Given the description of an element on the screen output the (x, y) to click on. 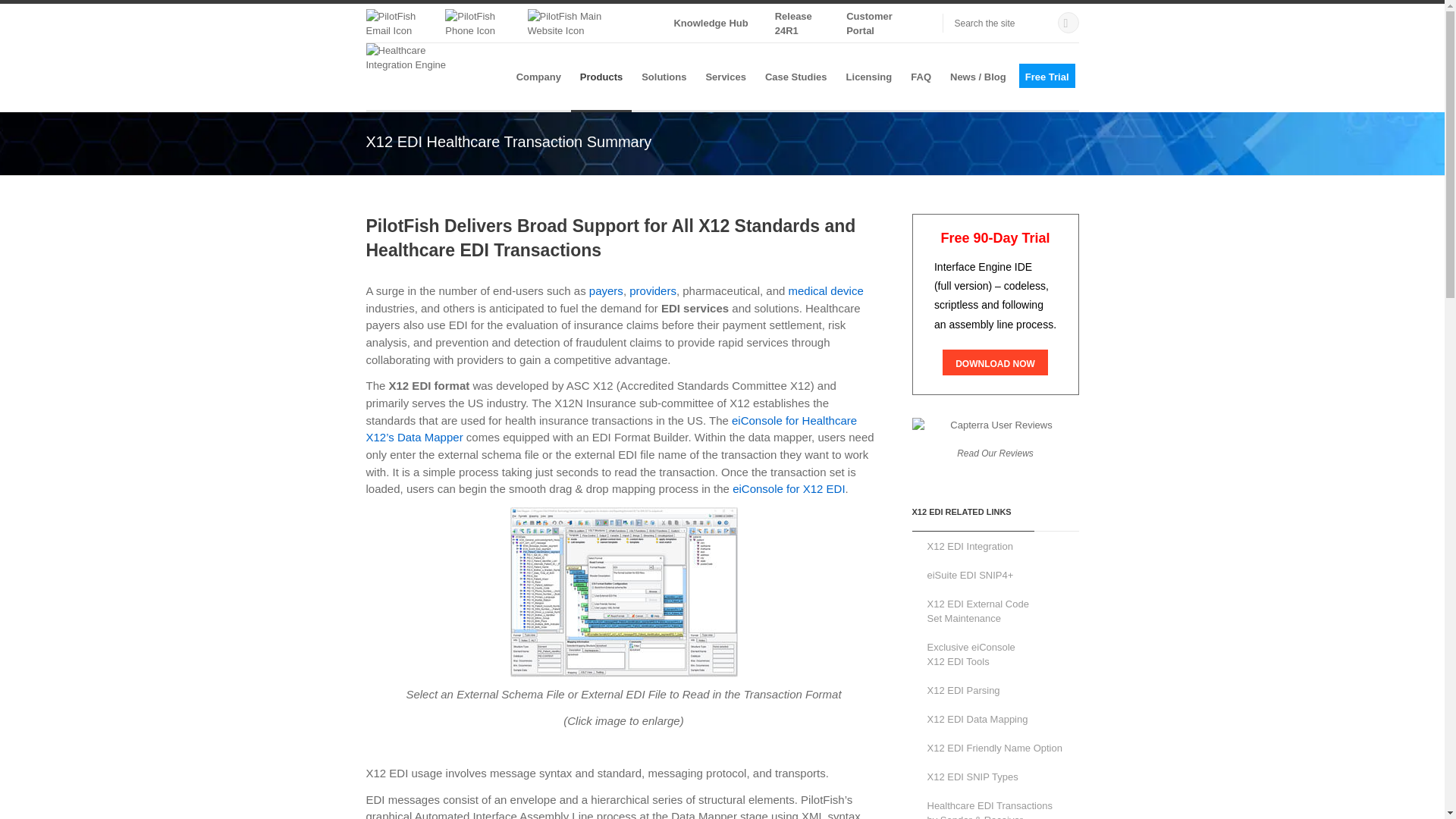
Company (538, 78)
Release 24R1 (793, 23)
Search (1067, 20)
Customer Portal (868, 23)
Knowledge Hub (710, 22)
